Given the description of an element on the screen output the (x, y) to click on. 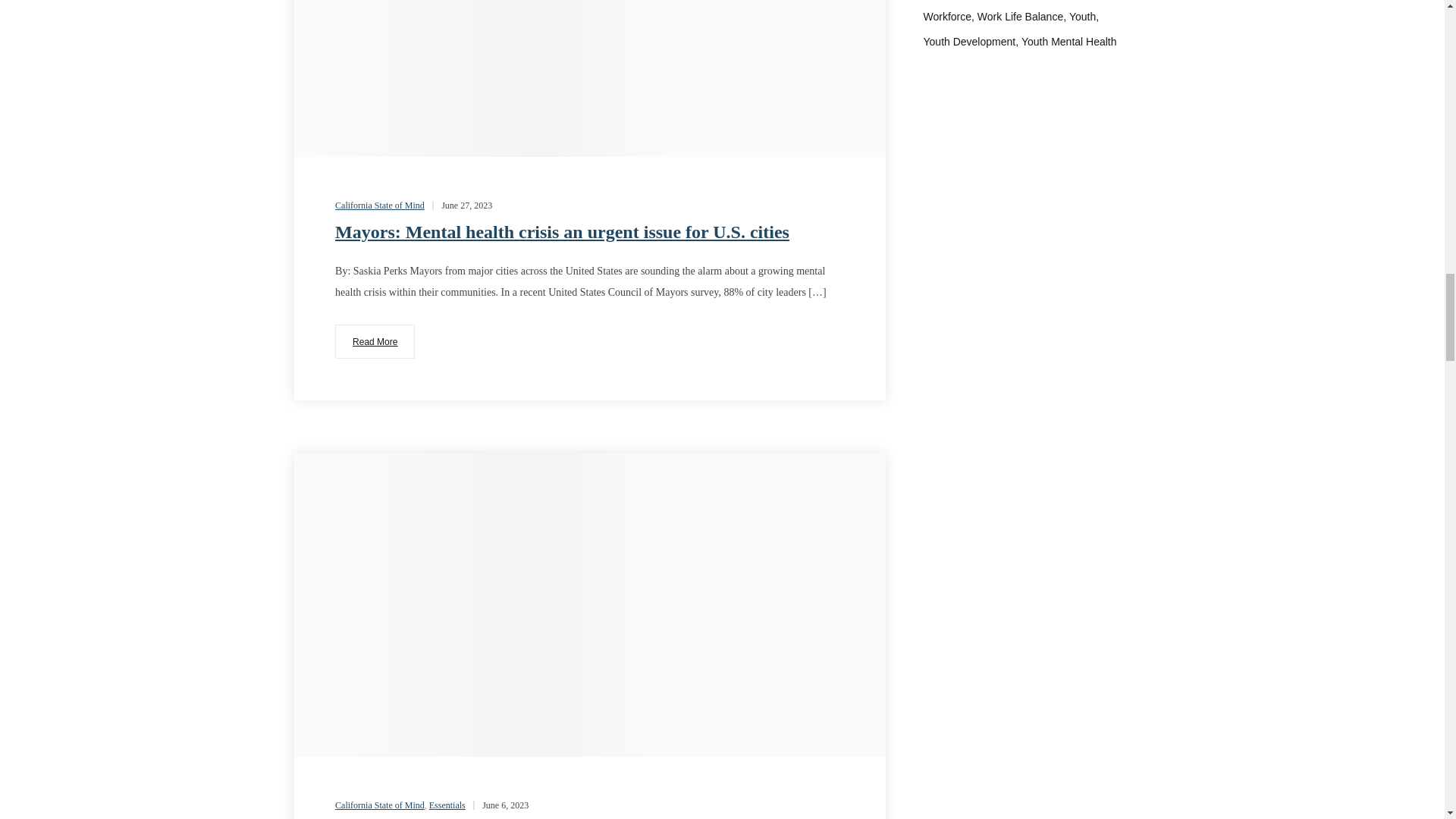
Mayors: Mental health crisis an urgent issue for U.S. cities (374, 341)
